Given the description of an element on the screen output the (x, y) to click on. 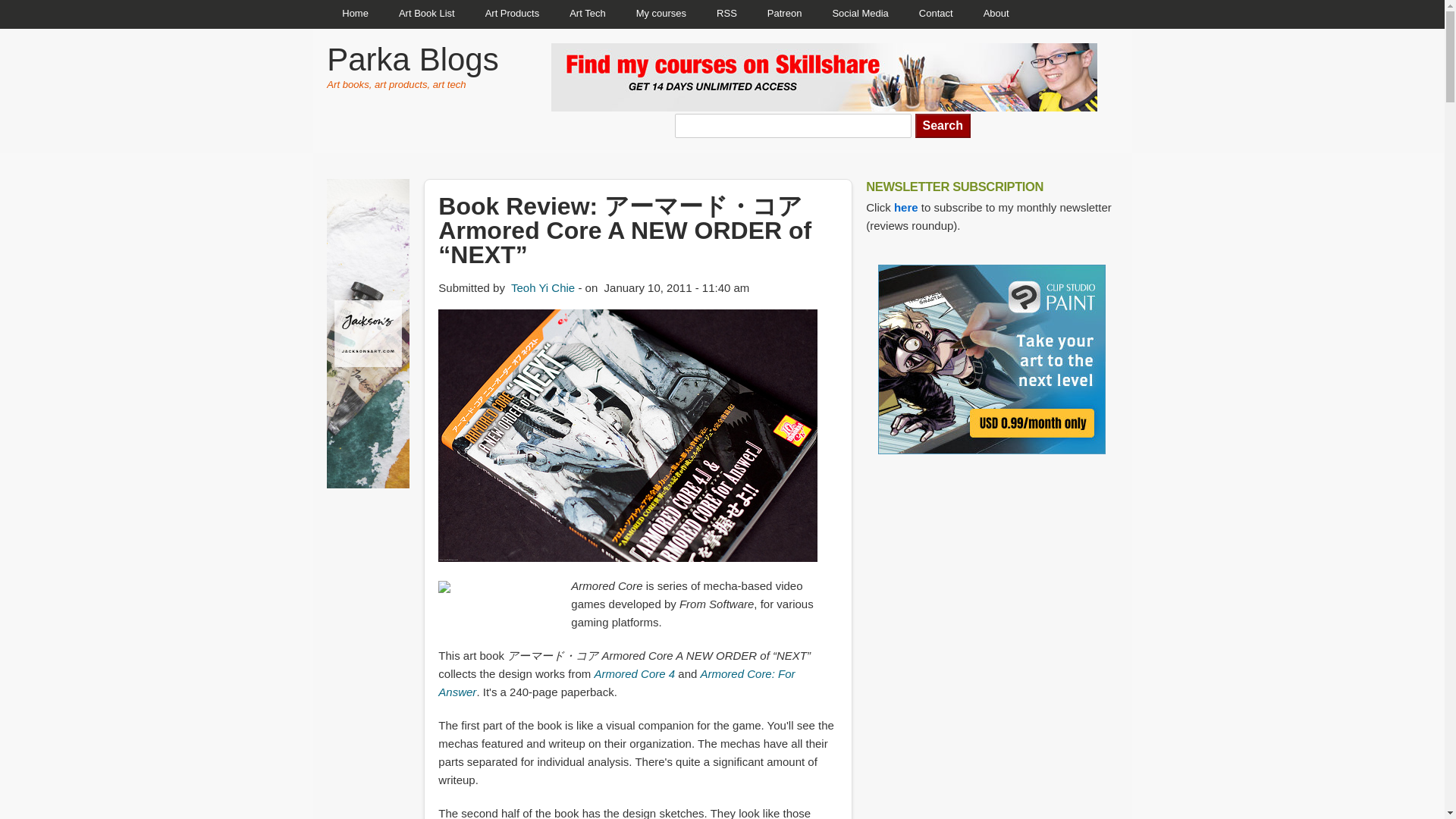
My courses (661, 14)
Search (943, 125)
Art Book List (427, 14)
Art books from the west (427, 14)
RSS (726, 14)
Art Tech (587, 14)
Art products and materials review (512, 14)
Parka Blogs (411, 58)
Social Media (859, 14)
Armored Core: For Answer (616, 682)
Patreon (784, 14)
Search (943, 125)
About (996, 14)
Art Products (512, 14)
Home (355, 14)
